Given the description of an element on the screen output the (x, y) to click on. 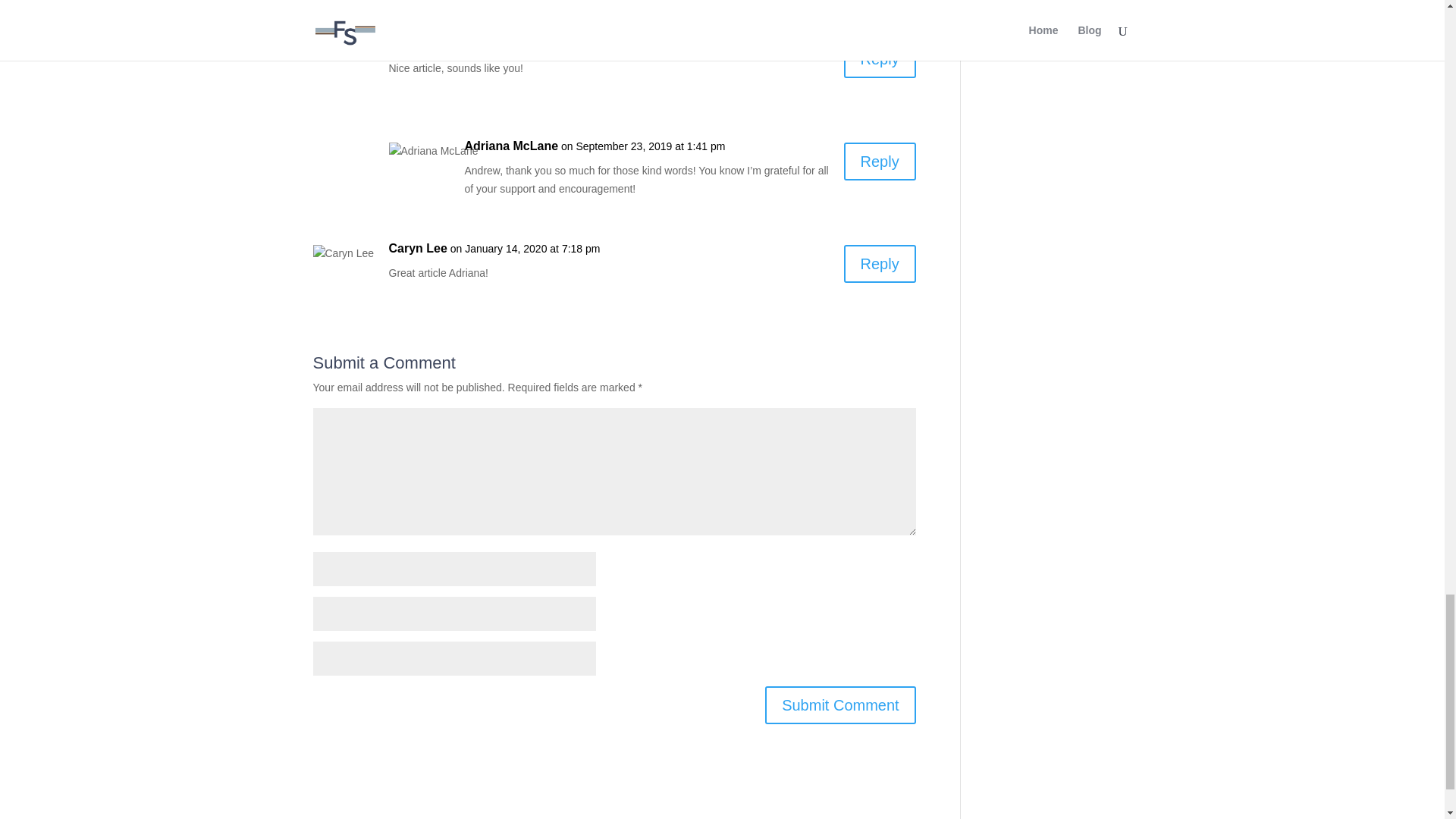
Reply (879, 161)
Reply (879, 58)
Submit Comment (840, 704)
Reply (879, 263)
Submit Comment (840, 704)
Andrew Tucker (431, 44)
